Given the description of an element on the screen output the (x, y) to click on. 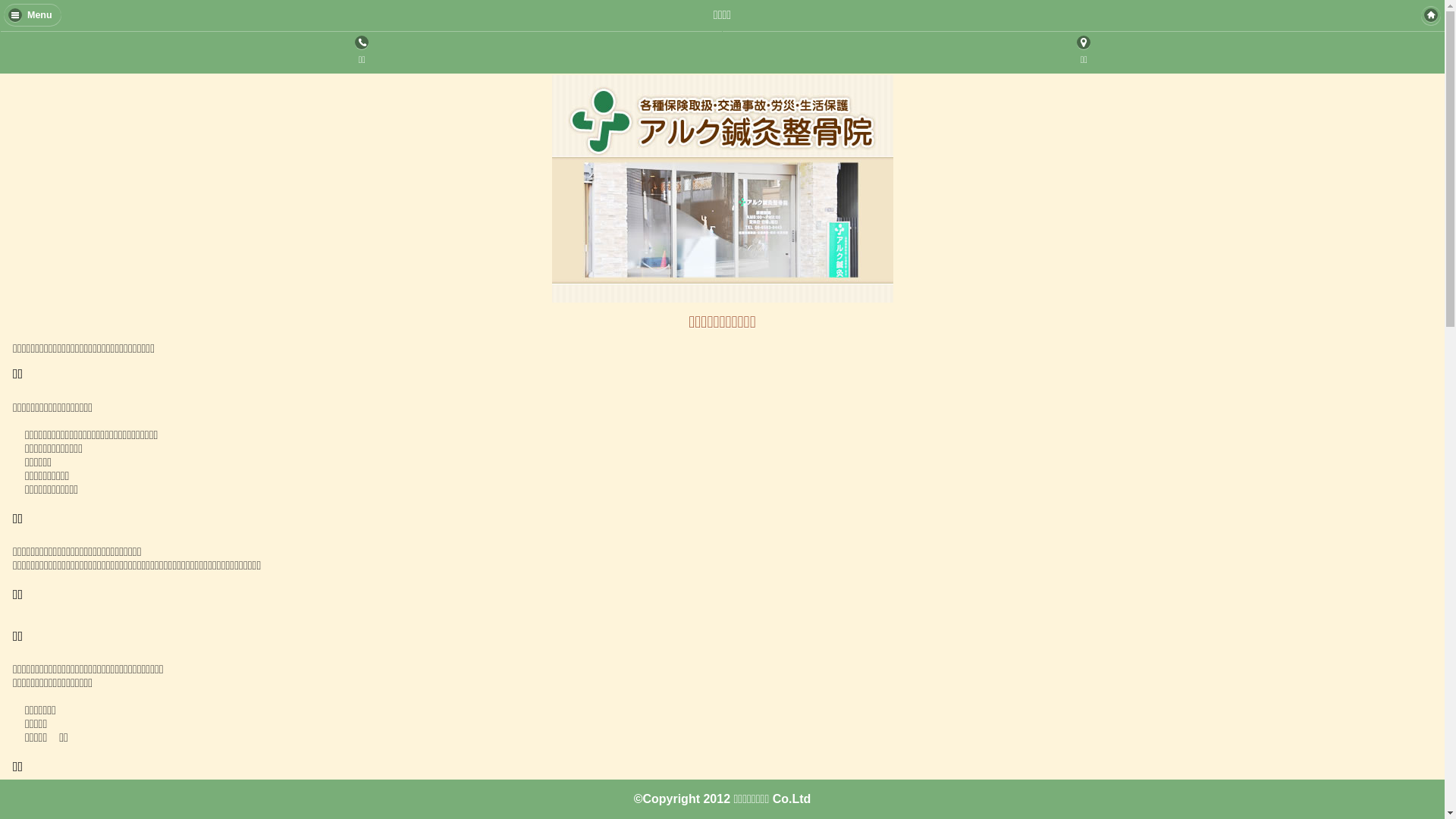
  Element type: text (1430, 15)
Home Element type: hover (1430, 15)
Menu
  Element type: text (32, 14)
